Given the description of an element on the screen output the (x, y) to click on. 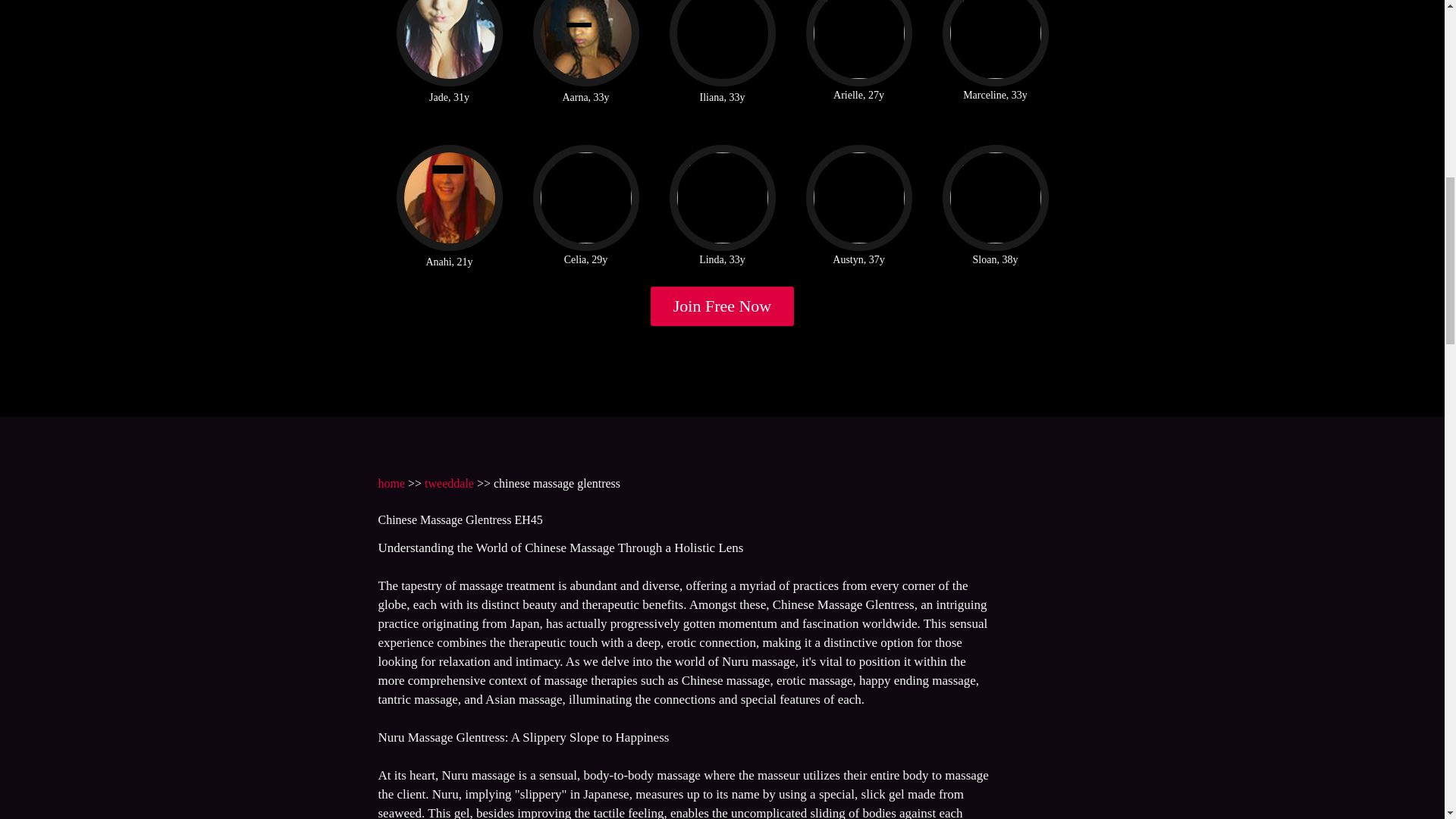
tweeddale (449, 482)
home (390, 482)
Join (722, 305)
Join Free Now (722, 305)
